Given the description of an element on the screen output the (x, y) to click on. 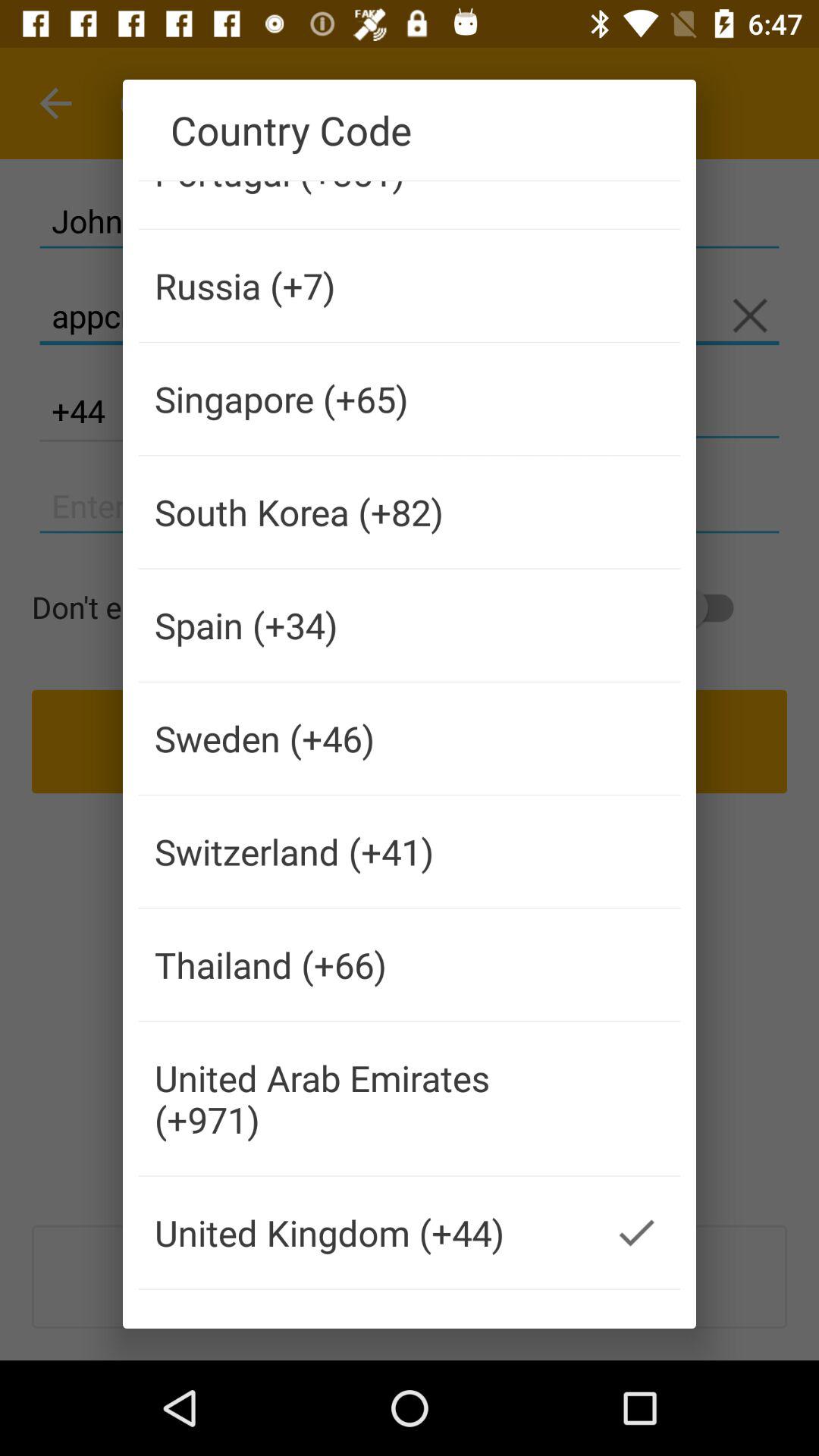
choose the item to the right of the united kingdom (+44) item (636, 1232)
